Given the description of an element on the screen output the (x, y) to click on. 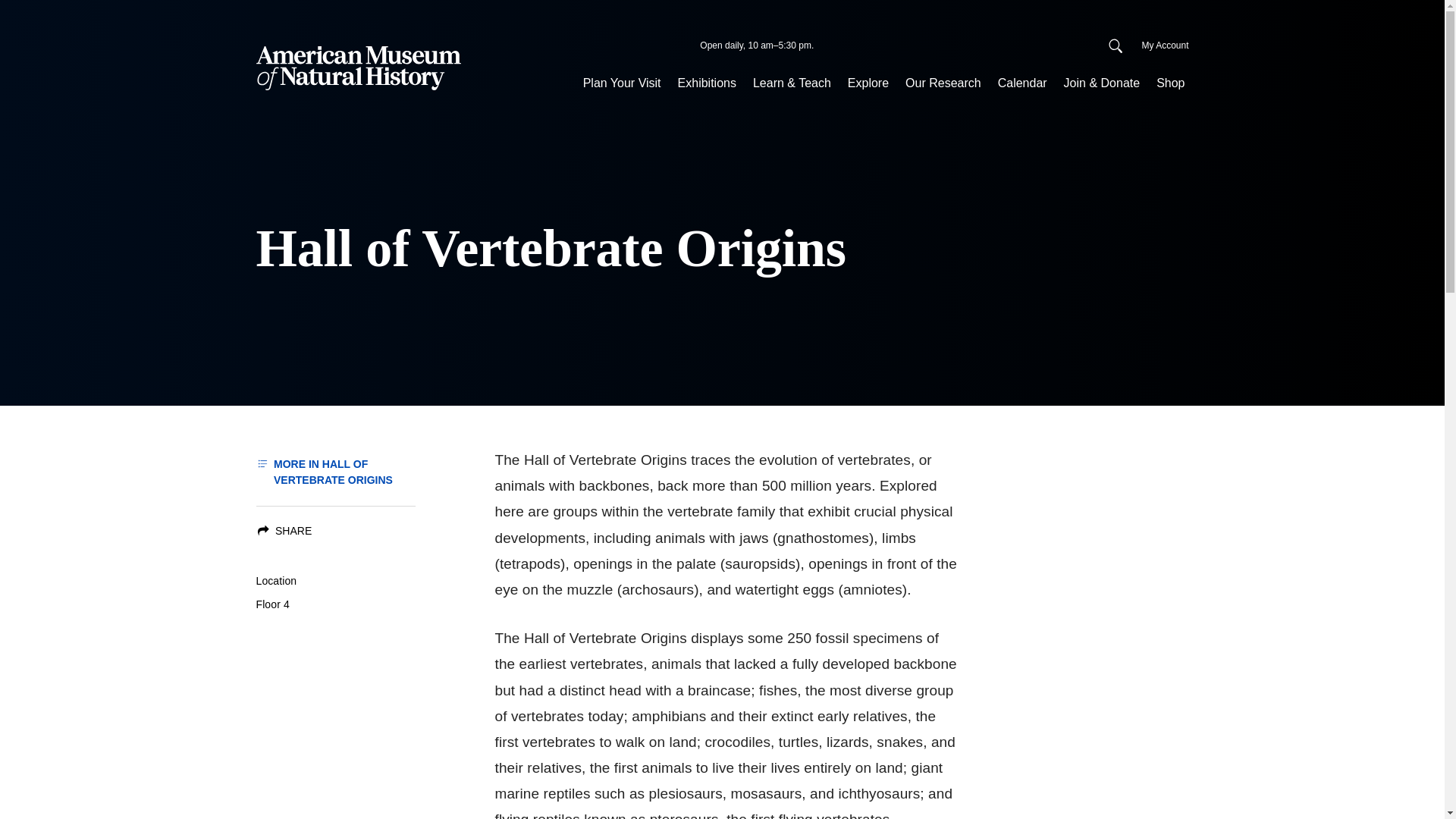
My Account (1164, 45)
Plan Your Visit (622, 84)
Exhibitions (706, 84)
